Given the description of an element on the screen output the (x, y) to click on. 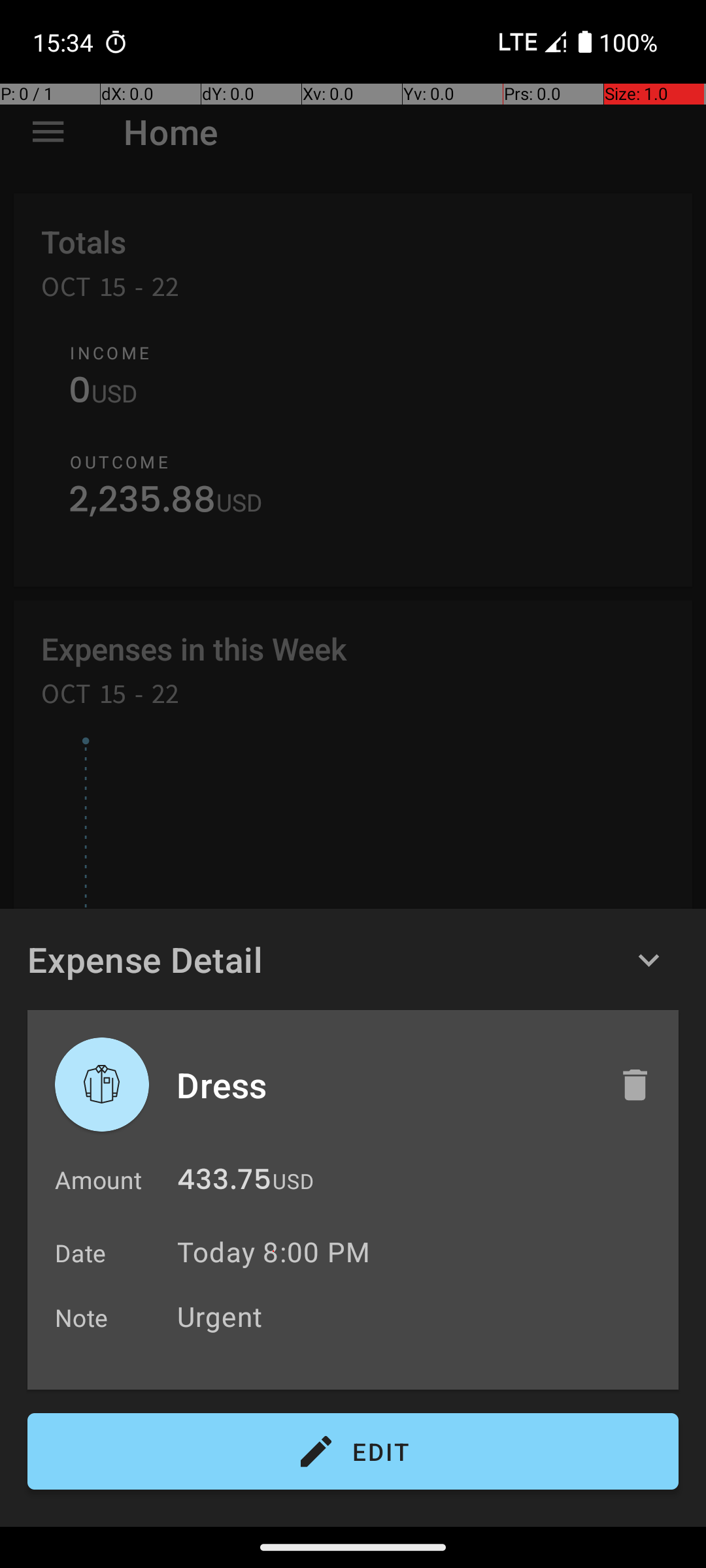
Dress Element type: android.widget.TextView (383, 1084)
433.75 Element type: android.widget.TextView (223, 1182)
